Given the description of an element on the screen output the (x, y) to click on. 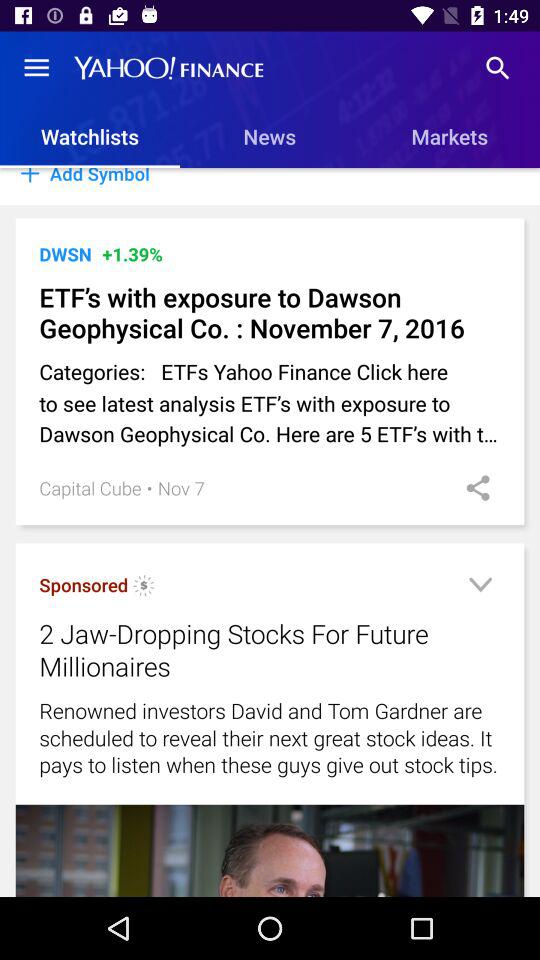
jump to the +1.39% item (132, 253)
